Given the description of an element on the screen output the (x, y) to click on. 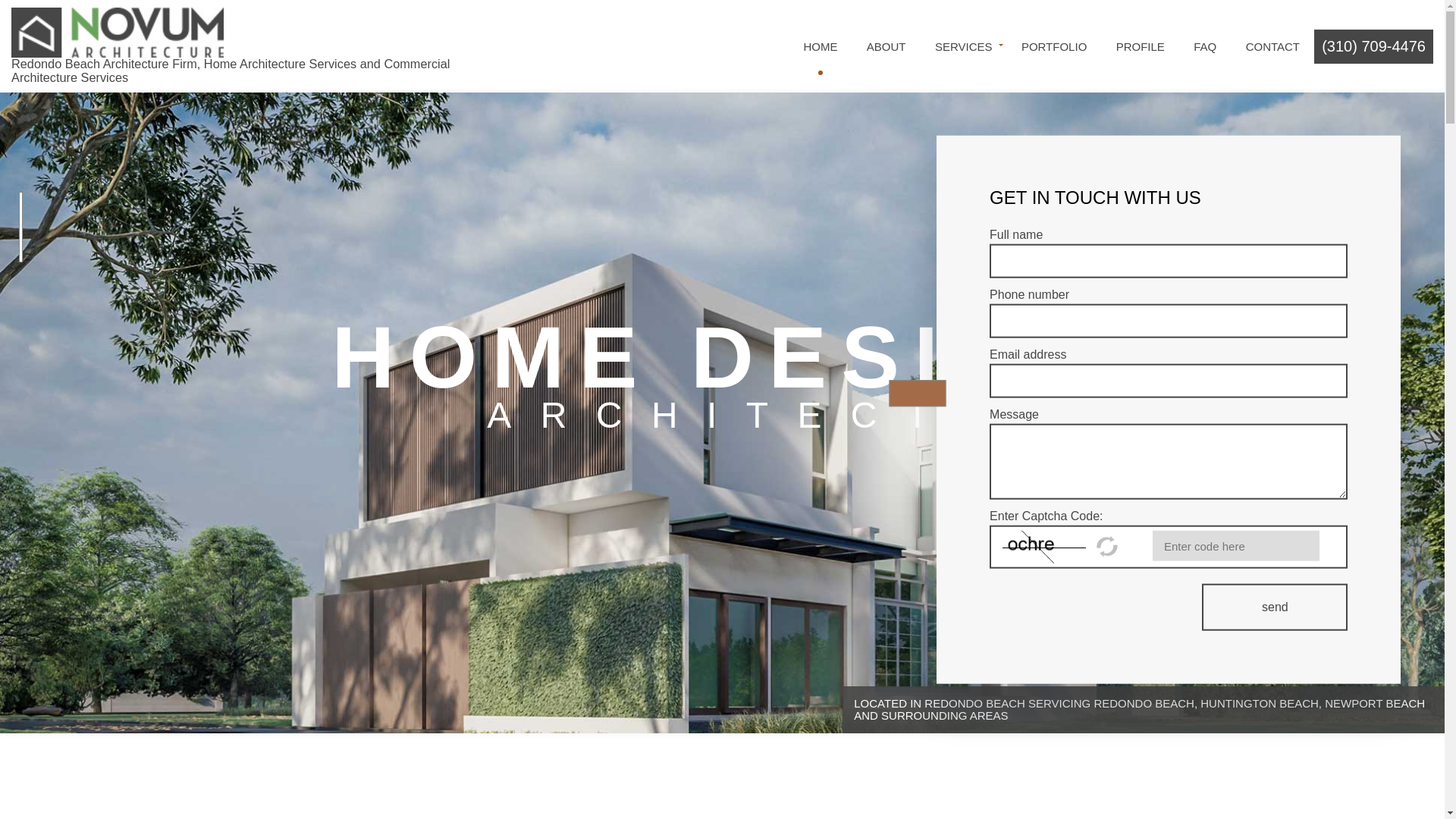
Phone Number (1169, 320)
HOME (820, 46)
SERVICES (963, 46)
Novum Architecture Inc (117, 31)
ARCHITECT (732, 97)
Email Address (1169, 380)
ARCHITECTURAL PROGRAMMING (957, 117)
ARCHITECTURAL DESIGN DEVELOPMENT (957, 97)
ABOUT (885, 46)
ARCHITECTURAL DRAFTING SERVICES (732, 117)
Full Name (1169, 261)
Enter your message (1169, 461)
